Given the description of an element on the screen output the (x, y) to click on. 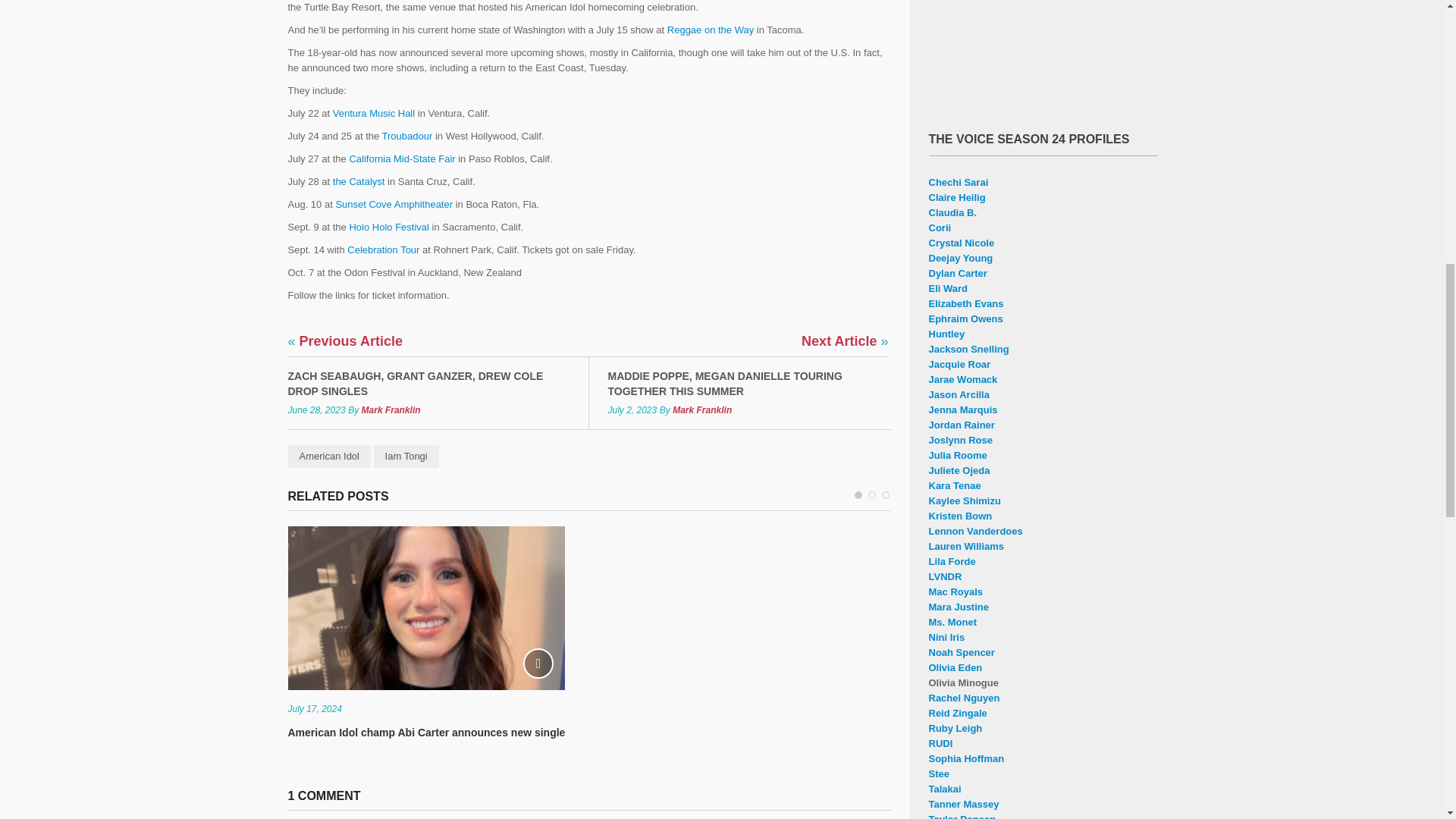
Advertisement (1042, 52)
